Given the description of an element on the screen output the (x, y) to click on. 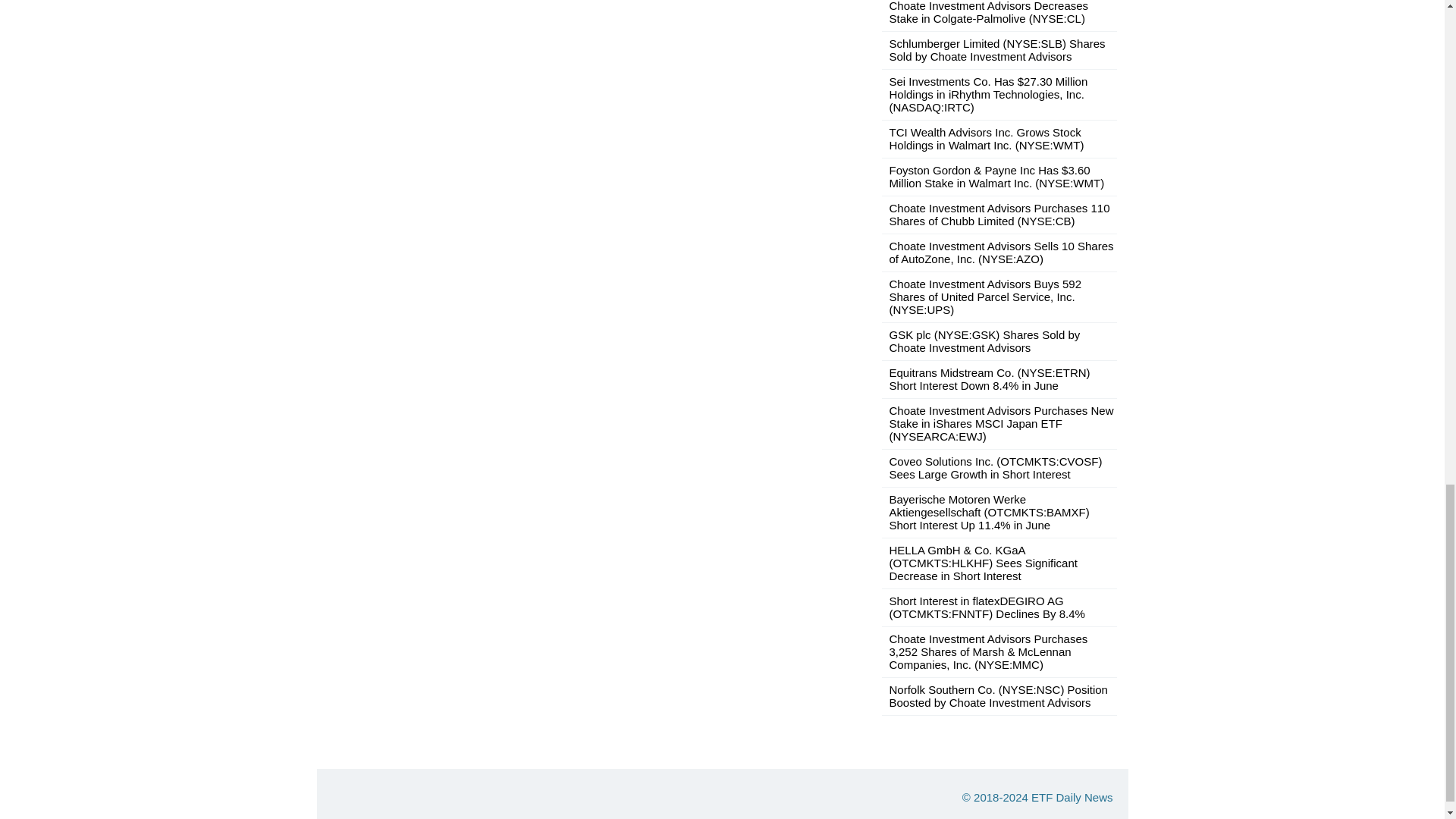
ETF Daily News (1071, 797)
